Given the description of an element on the screen output the (x, y) to click on. 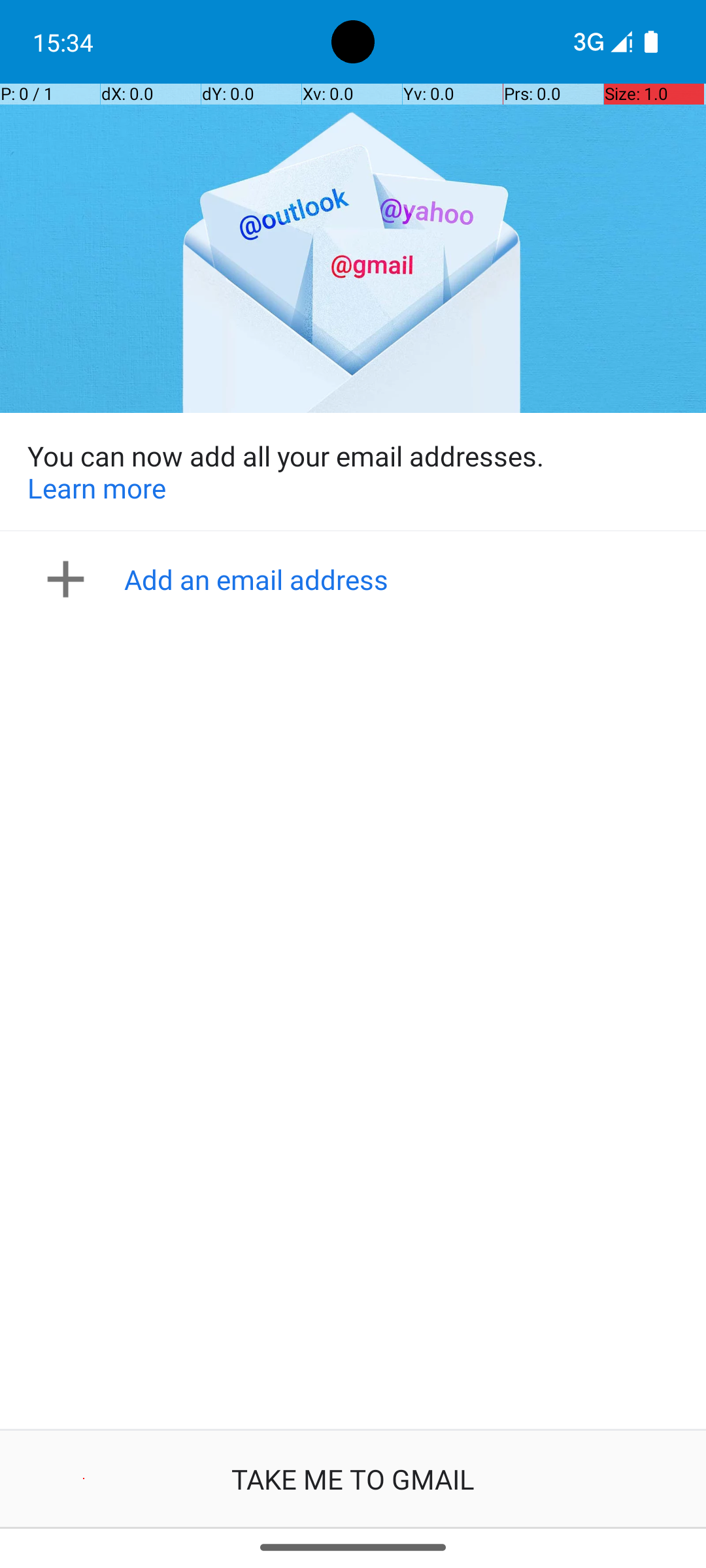
You can now add all your email addresses. Learn more Element type: android.widget.TextView (352, 471)
TAKE ME TO GMAIL Element type: android.widget.TextView (353, 1478)
Add an email address Element type: android.widget.TextView (356, 579)
